Given the description of an element on the screen output the (x, y) to click on. 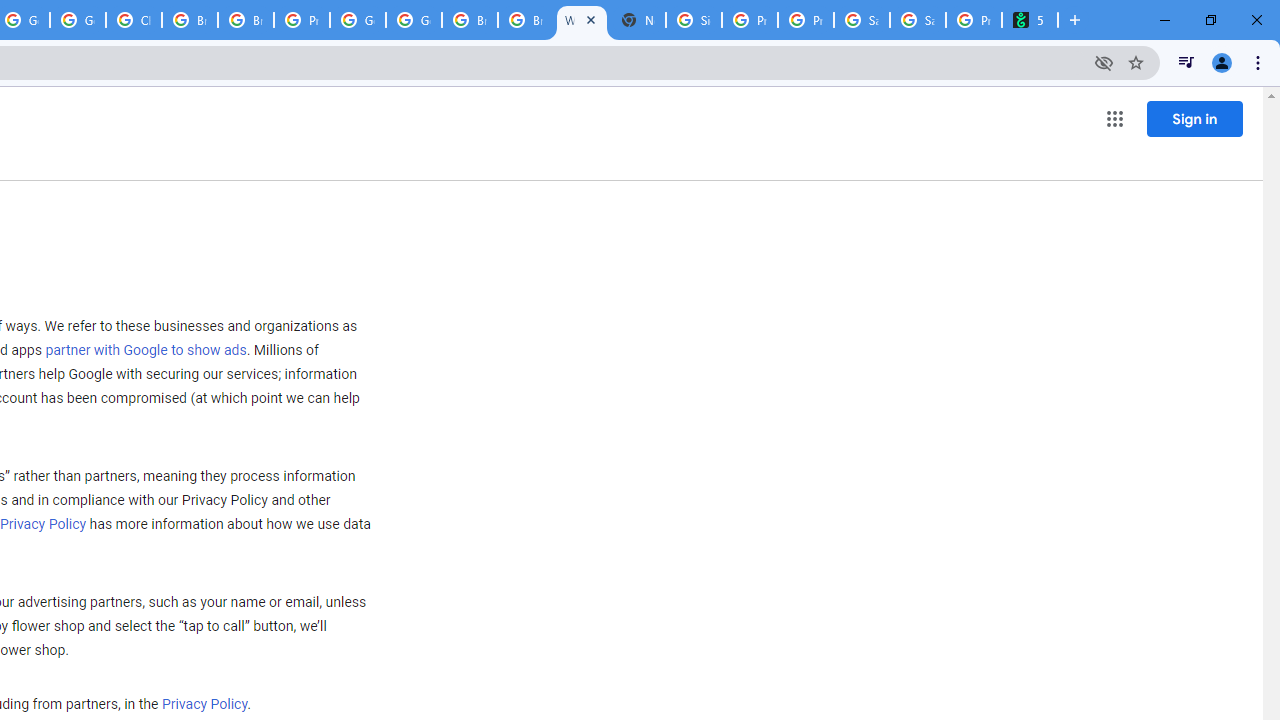
Browse Chrome as a guest - Computer - Google Chrome Help (189, 20)
Privacy Policy (204, 705)
Browse Chrome as a guest - Computer - Google Chrome Help (469, 20)
Sign in (1194, 118)
New Tab (637, 20)
Google apps (1114, 118)
Third-party cookies blocked (1103, 62)
Google Cloud Platform (358, 20)
